Given the description of an element on the screen output the (x, y) to click on. 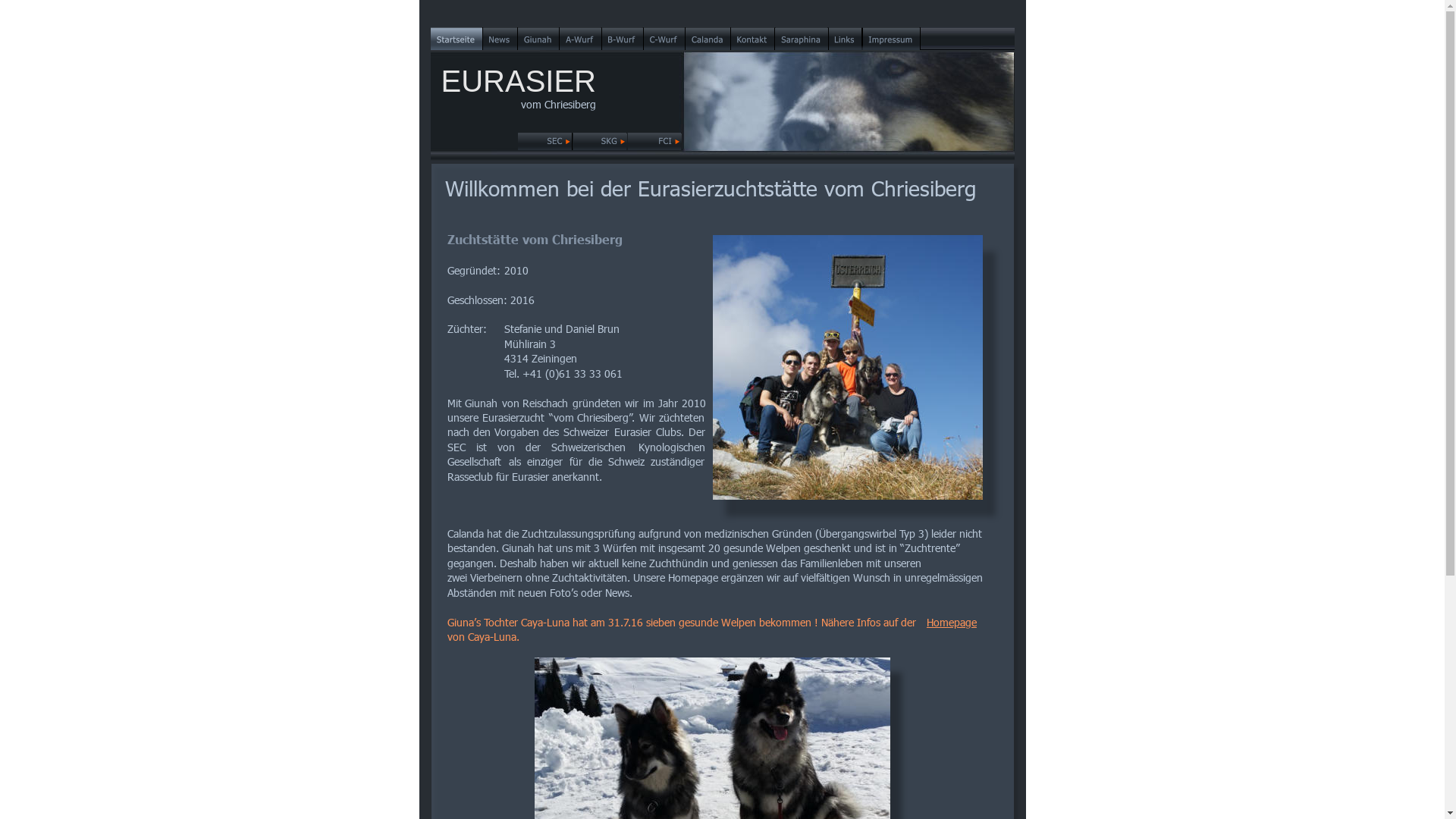
Homepage Element type: text (951, 622)
